Given the description of an element on the screen output the (x, y) to click on. 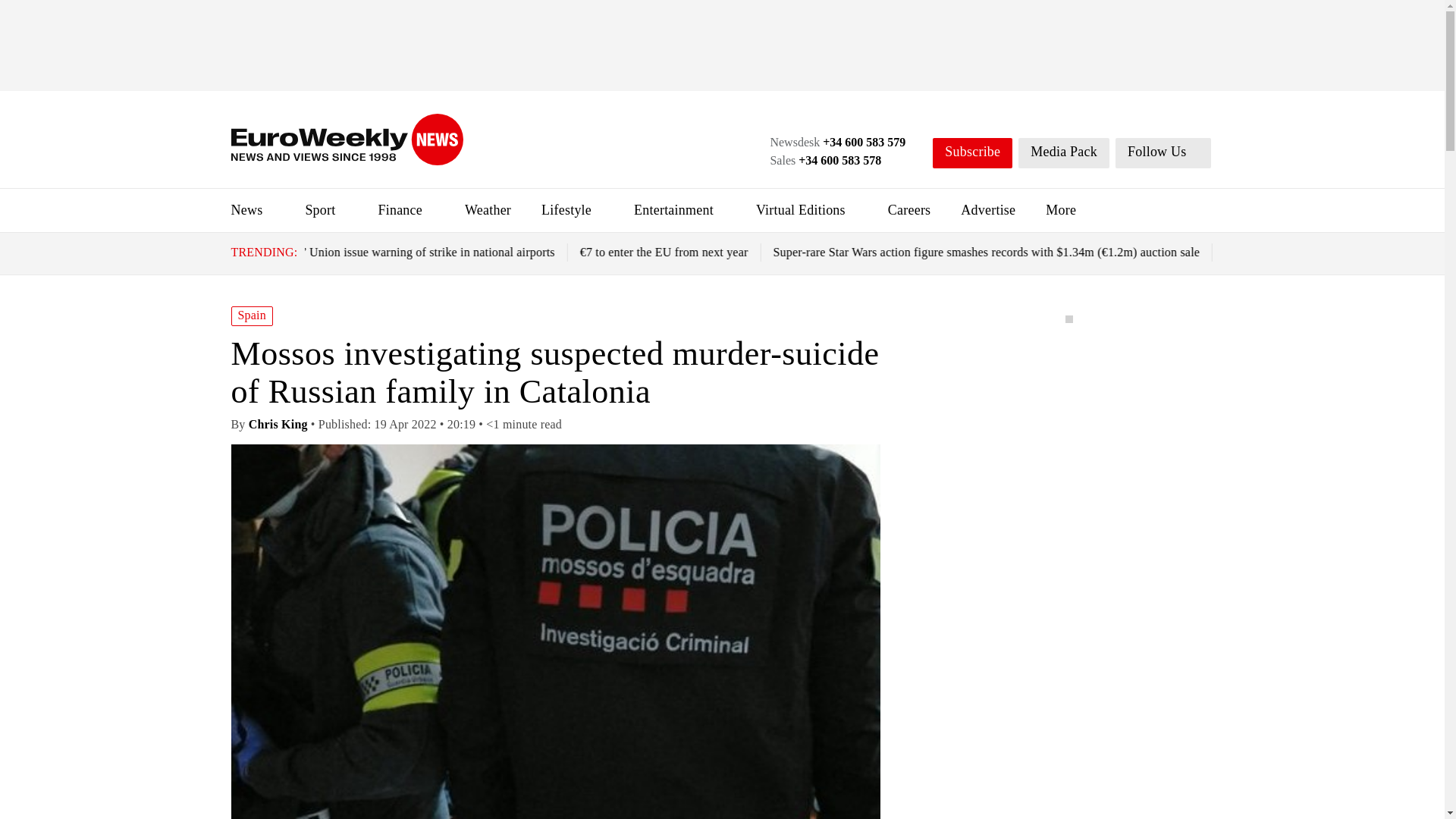
Media Pack (1063, 153)
News (246, 209)
Subscribe (972, 153)
Follow Us (1163, 153)
